Given the description of an element on the screen output the (x, y) to click on. 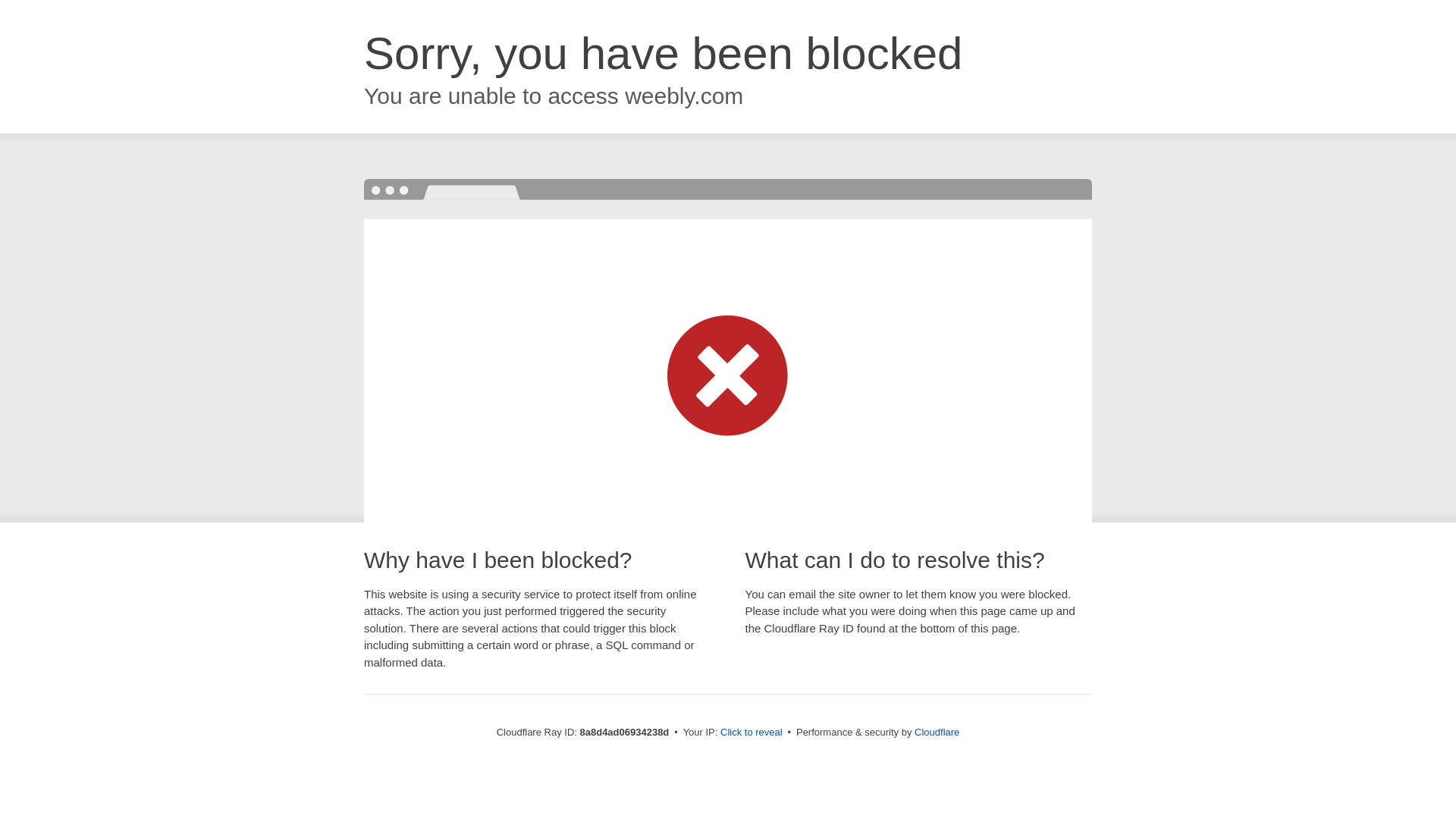
Click to reveal (751, 732)
Cloudflare (936, 731)
